Given the description of an element on the screen output the (x, y) to click on. 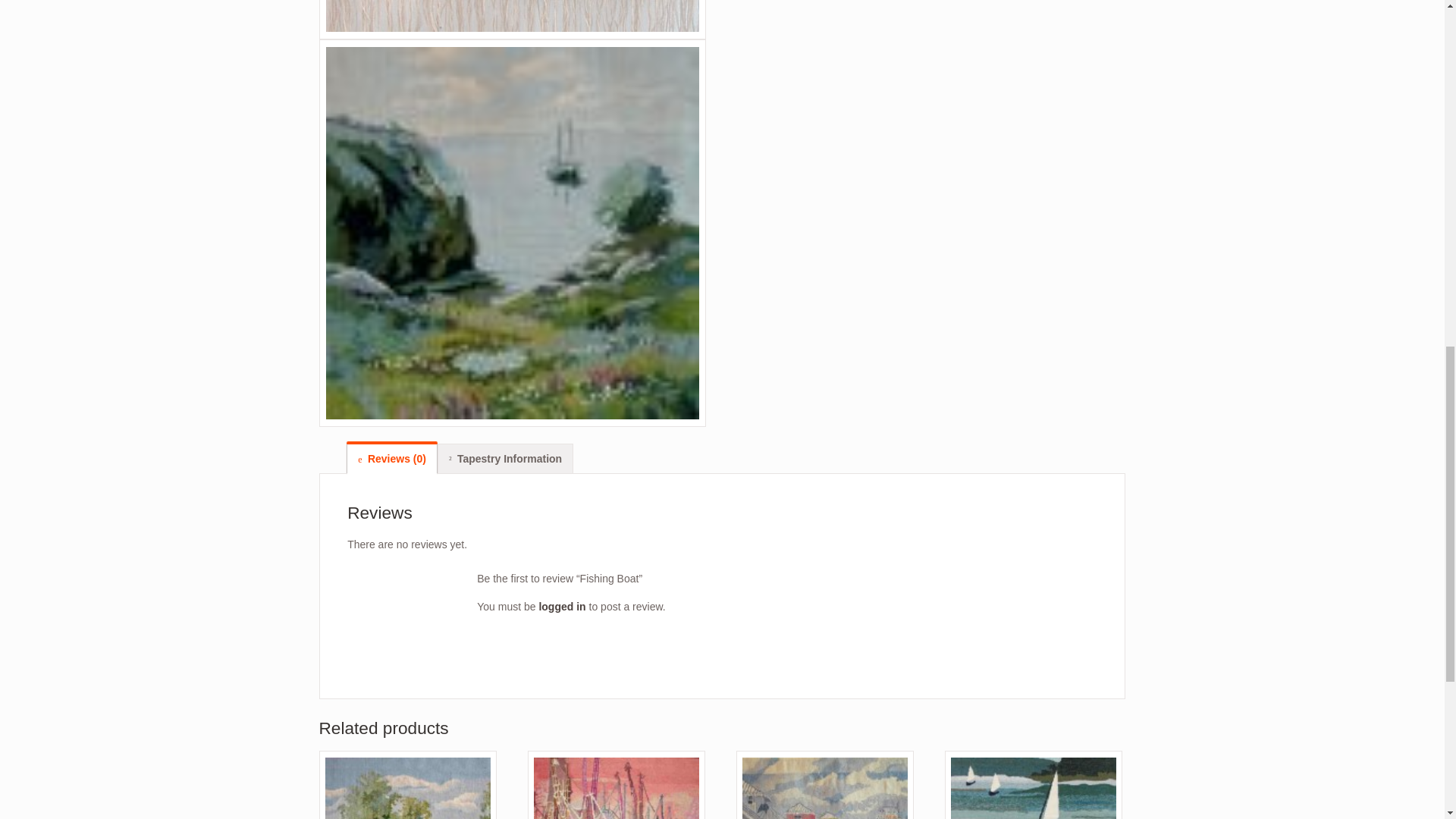
logged in (561, 606)
Tapestry Information (505, 457)
